Given the description of an element on the screen output the (x, y) to click on. 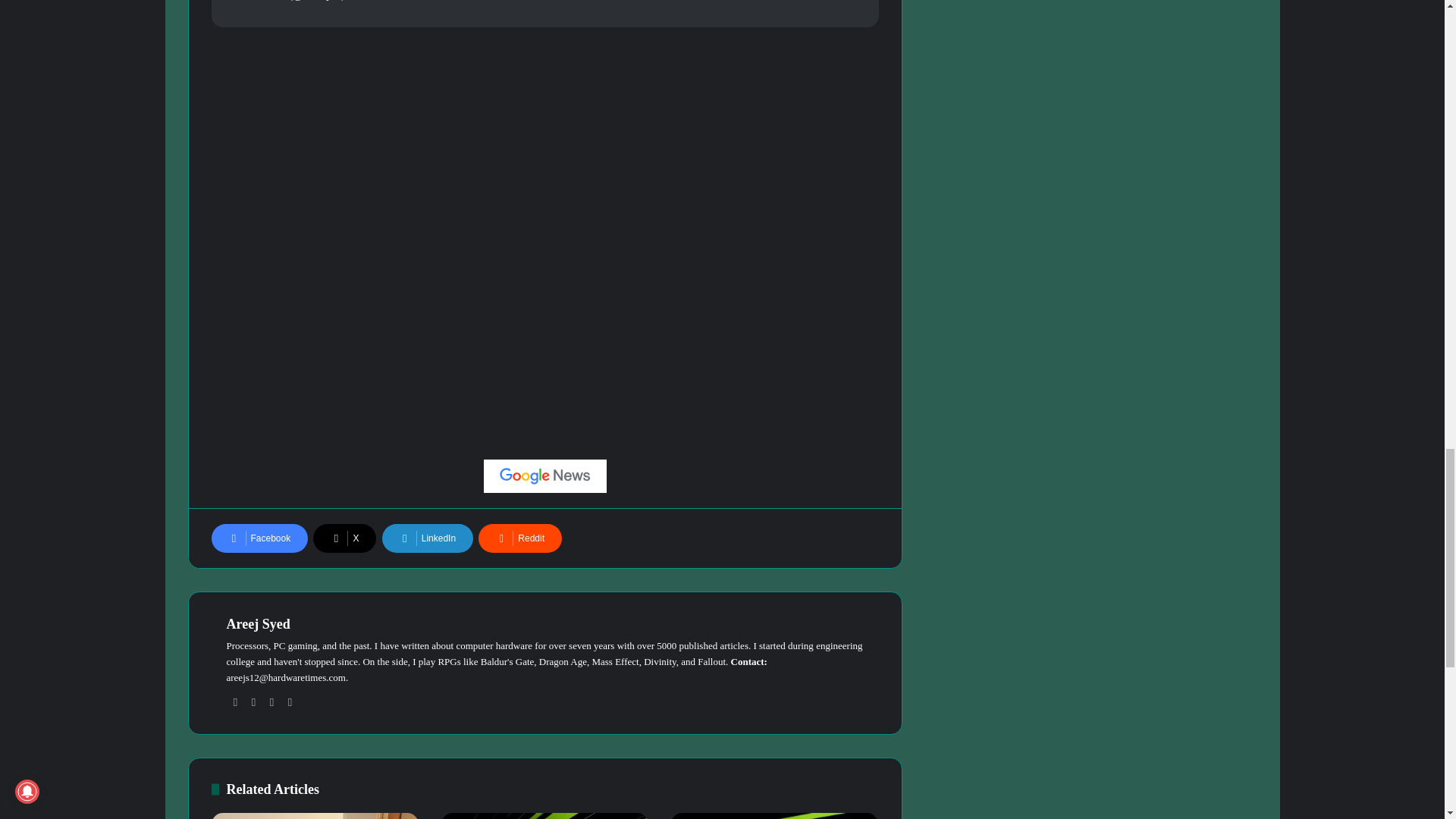
Facebook (259, 538)
X (344, 538)
LinkedIn (427, 538)
